Given the description of an element on the screen output the (x, y) to click on. 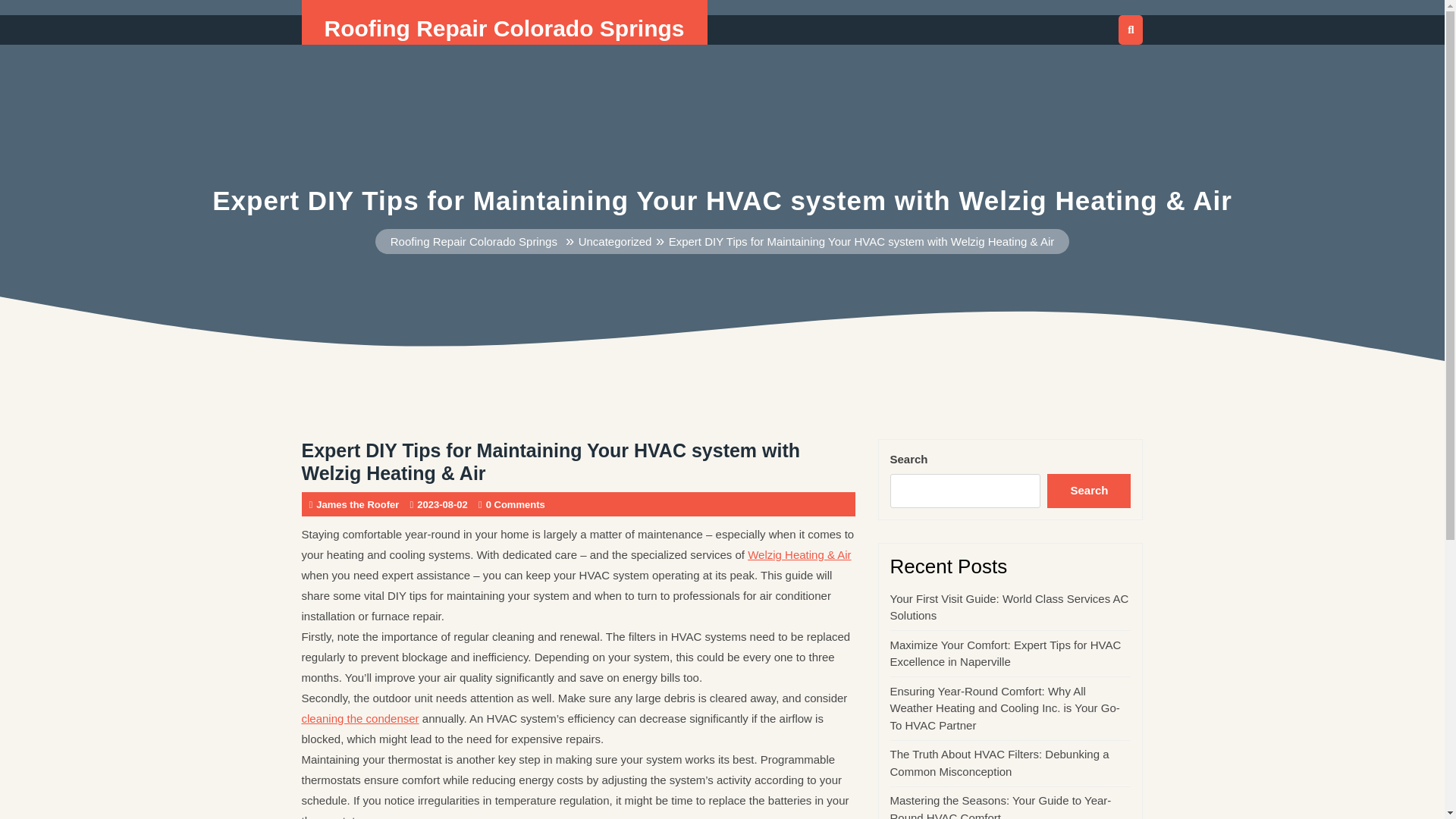
Mastering the Seasons: Your Guide to Year-Round HVAC Comfort (1000, 806)
Roofing Repair Colorado Springs (504, 27)
cleaning the condenser (360, 717)
Search (1088, 491)
Uncategorized (615, 241)
Your First Visit Guide: World Class Services AC Solutions (1009, 607)
Roofing Repair Colorado Springs (473, 241)
